Given the description of an element on the screen output the (x, y) to click on. 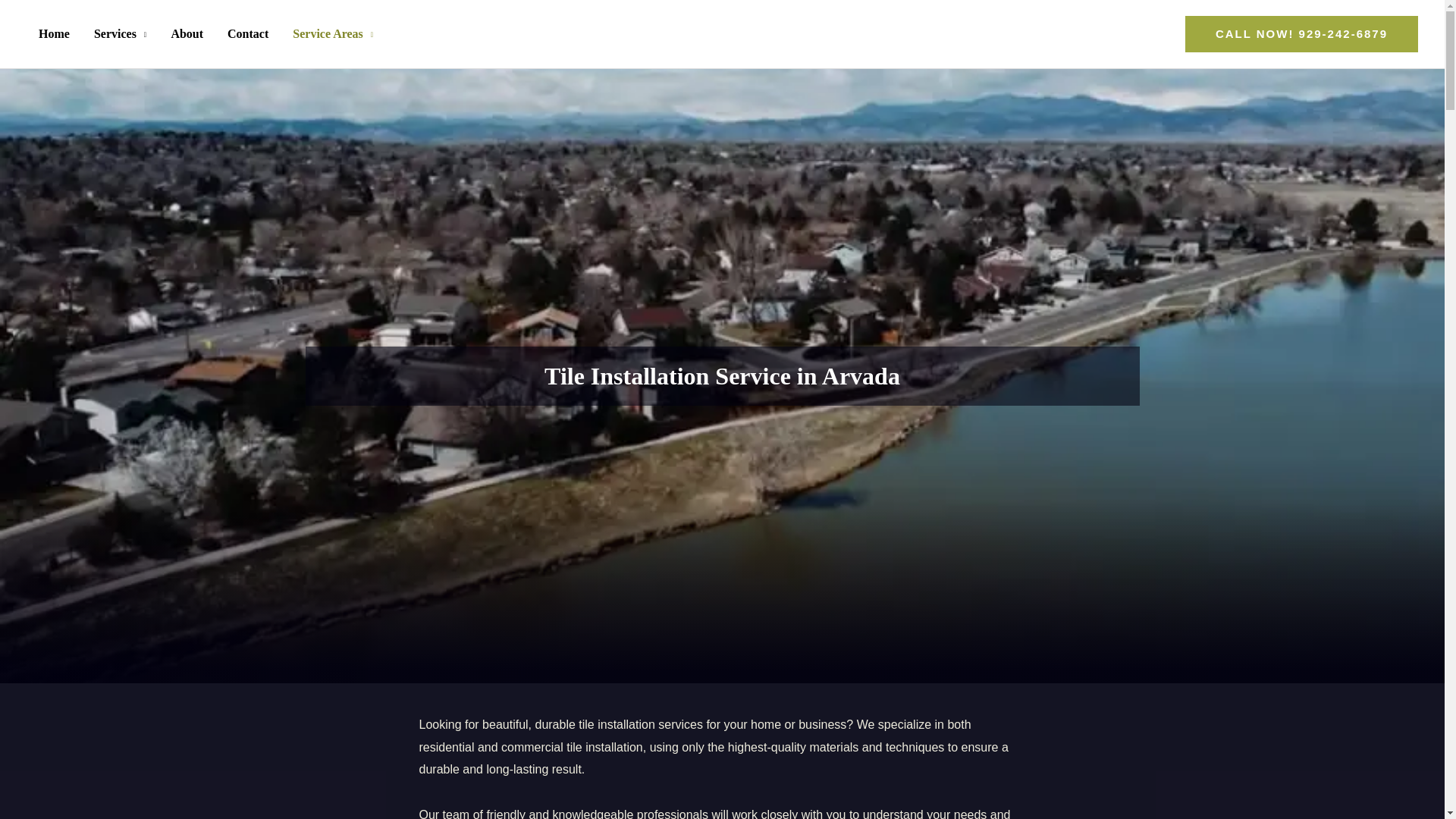
Service Areas (333, 33)
Home (53, 33)
CALL NOW! 929-242-6879 (1301, 33)
Services (119, 33)
Contact (248, 33)
About (186, 33)
